Given the description of an element on the screen output the (x, y) to click on. 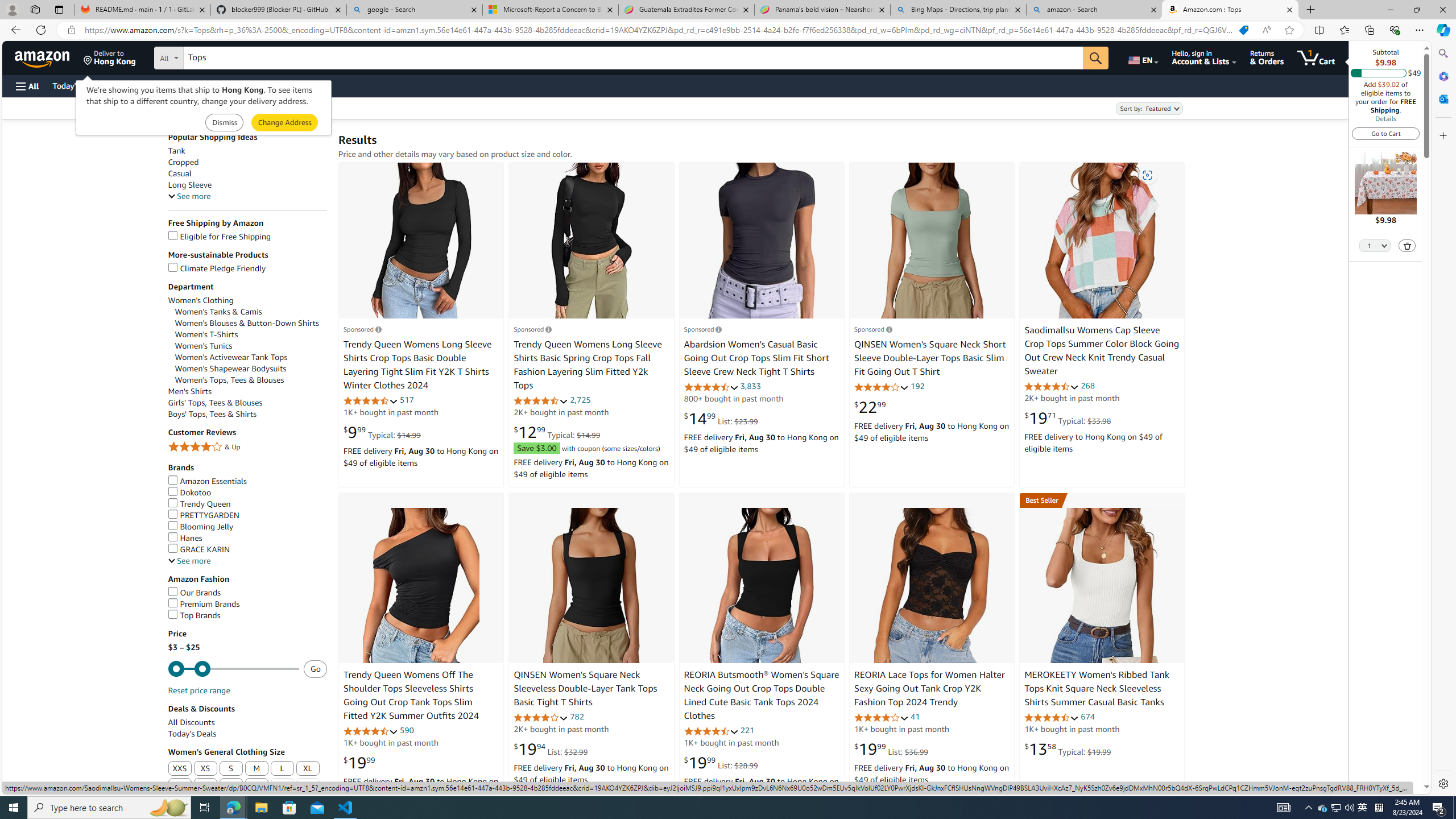
Women's Blouses & Button-Down Shirts (250, 323)
Eligible for Free Shipping (247, 236)
Returns & Orders (1266, 57)
All Discounts (191, 722)
XS (205, 768)
7XL (307, 786)
Top Brands (194, 614)
Today's Deals (191, 733)
$22.99 (869, 407)
L (282, 768)
